Given the description of an element on the screen output the (x, y) to click on. 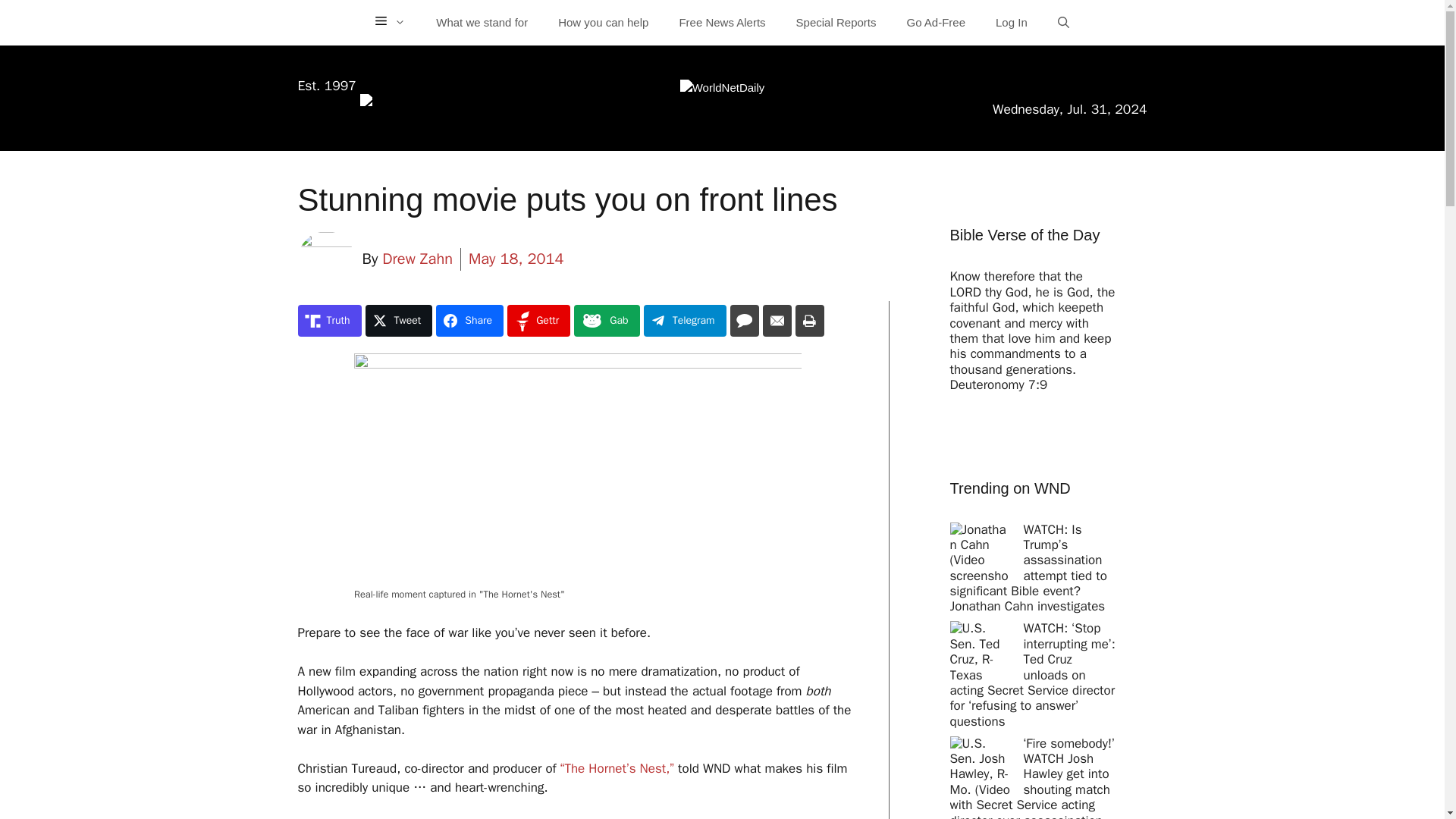
Share on Share (469, 320)
Share on Gettr (538, 320)
Share on Gab (606, 320)
Share on Tweet (398, 320)
Share on Truth (329, 320)
Share on Telegram (684, 320)
